Given the description of an element on the screen output the (x, y) to click on. 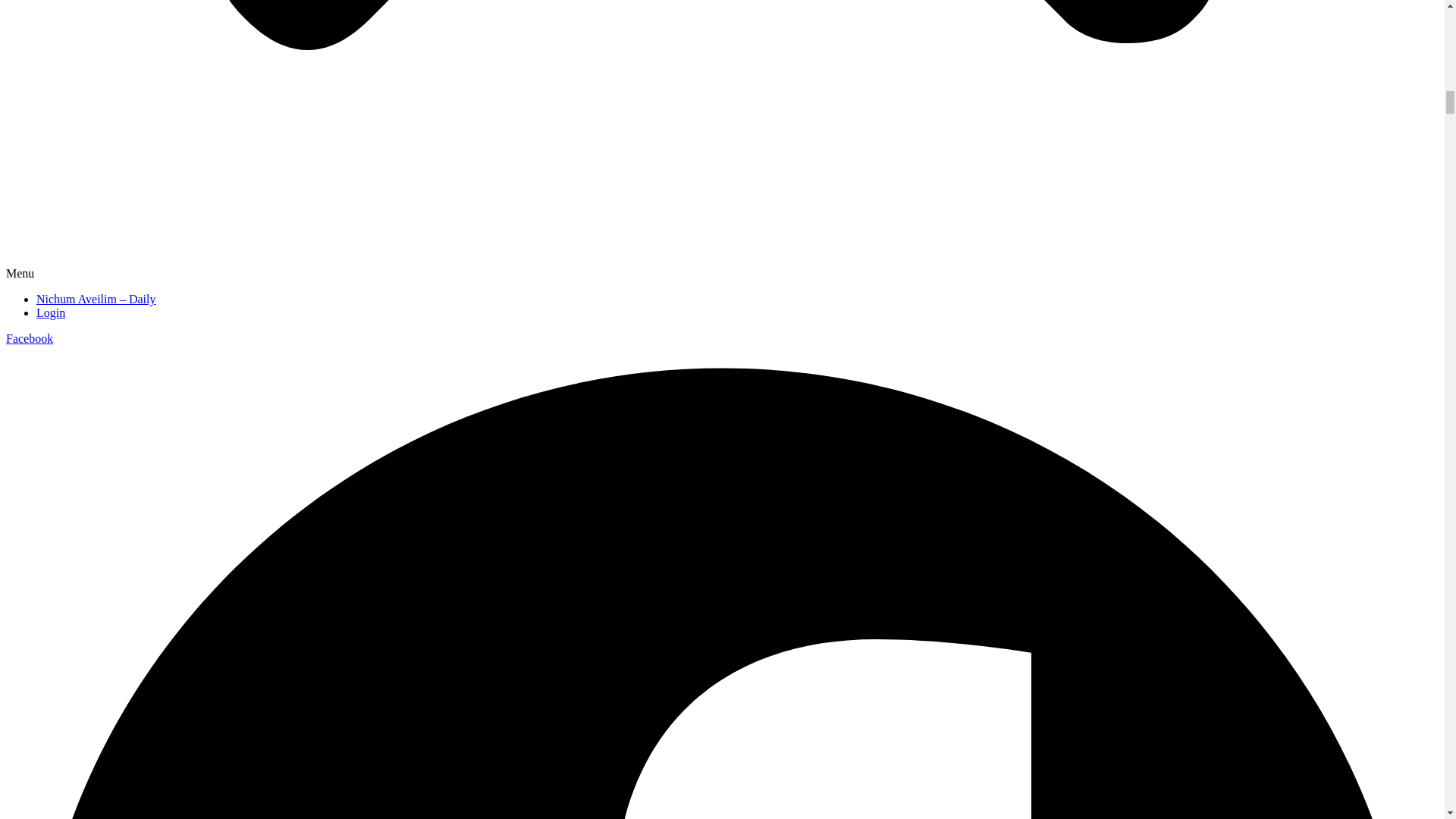
Login (50, 312)
